Given the description of an element on the screen output the (x, y) to click on. 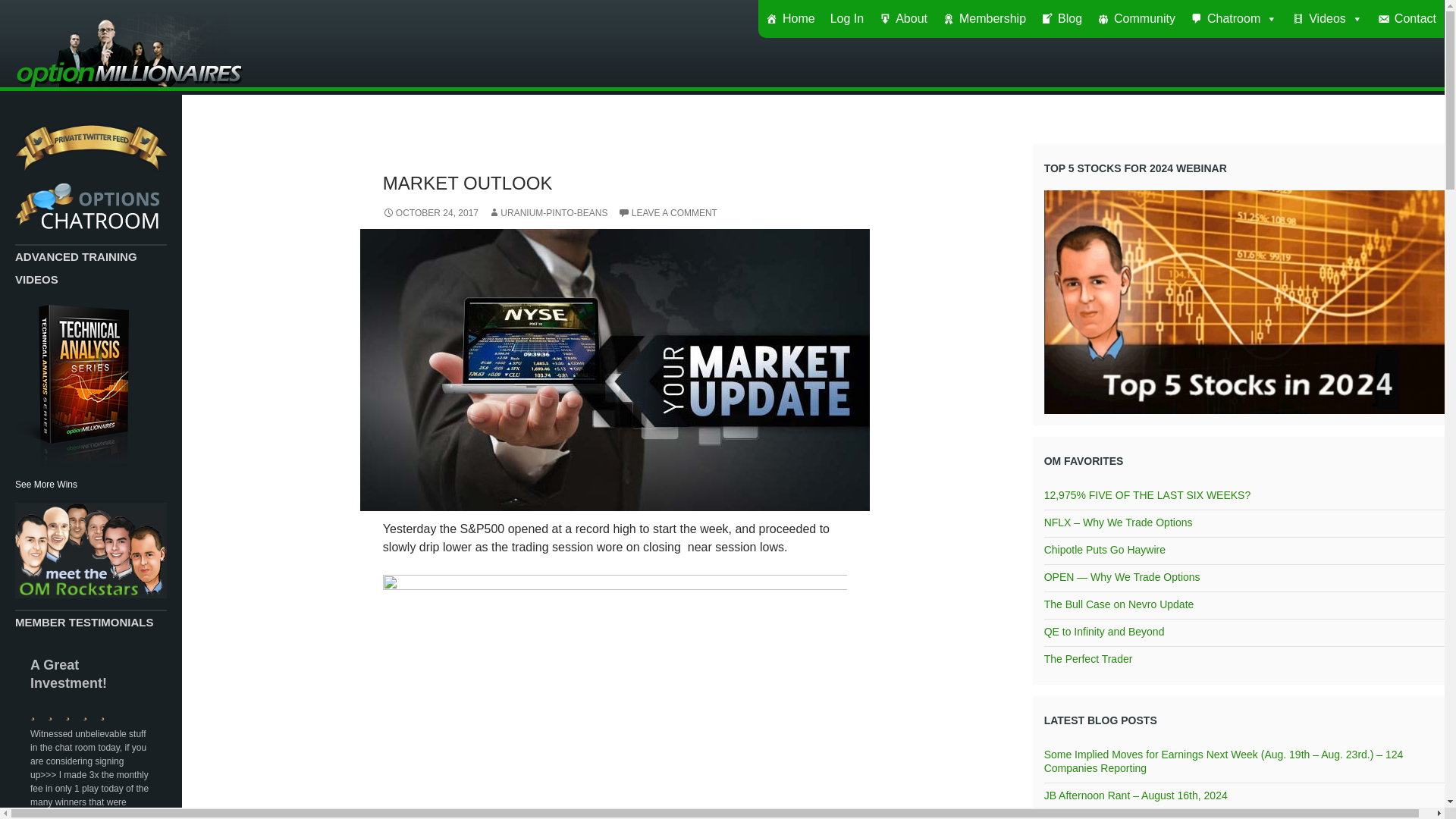
Enter the Chatroom (87, 206)
Log In (846, 18)
About (902, 18)
Membership (983, 18)
Blog (1061, 18)
Home (790, 18)
